Given the description of an element on the screen output the (x, y) to click on. 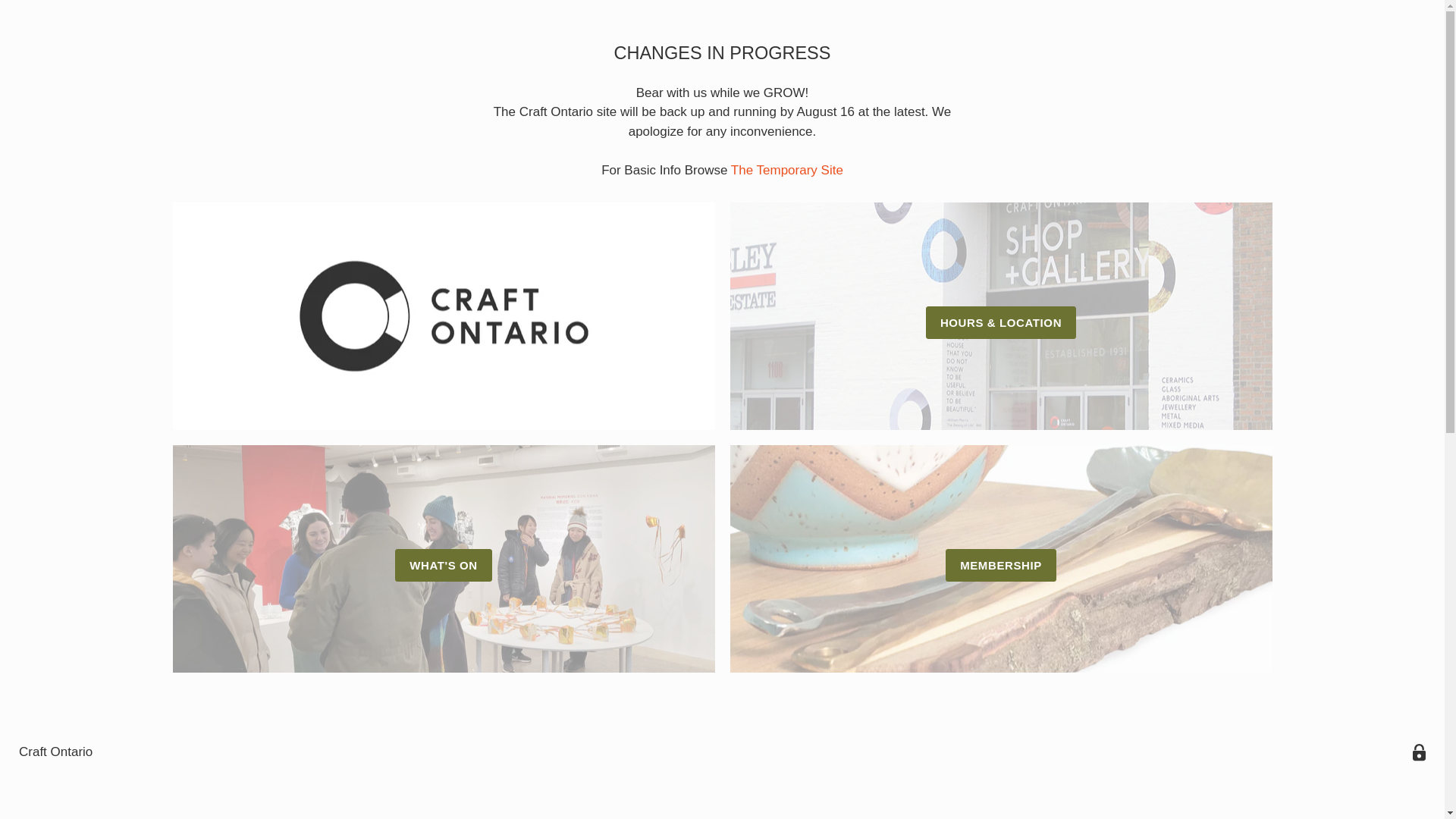
WHAT'S ON (443, 558)
The Temporary Site (786, 169)
MEMBERSHIP (1000, 558)
